Given the description of an element on the screen output the (x, y) to click on. 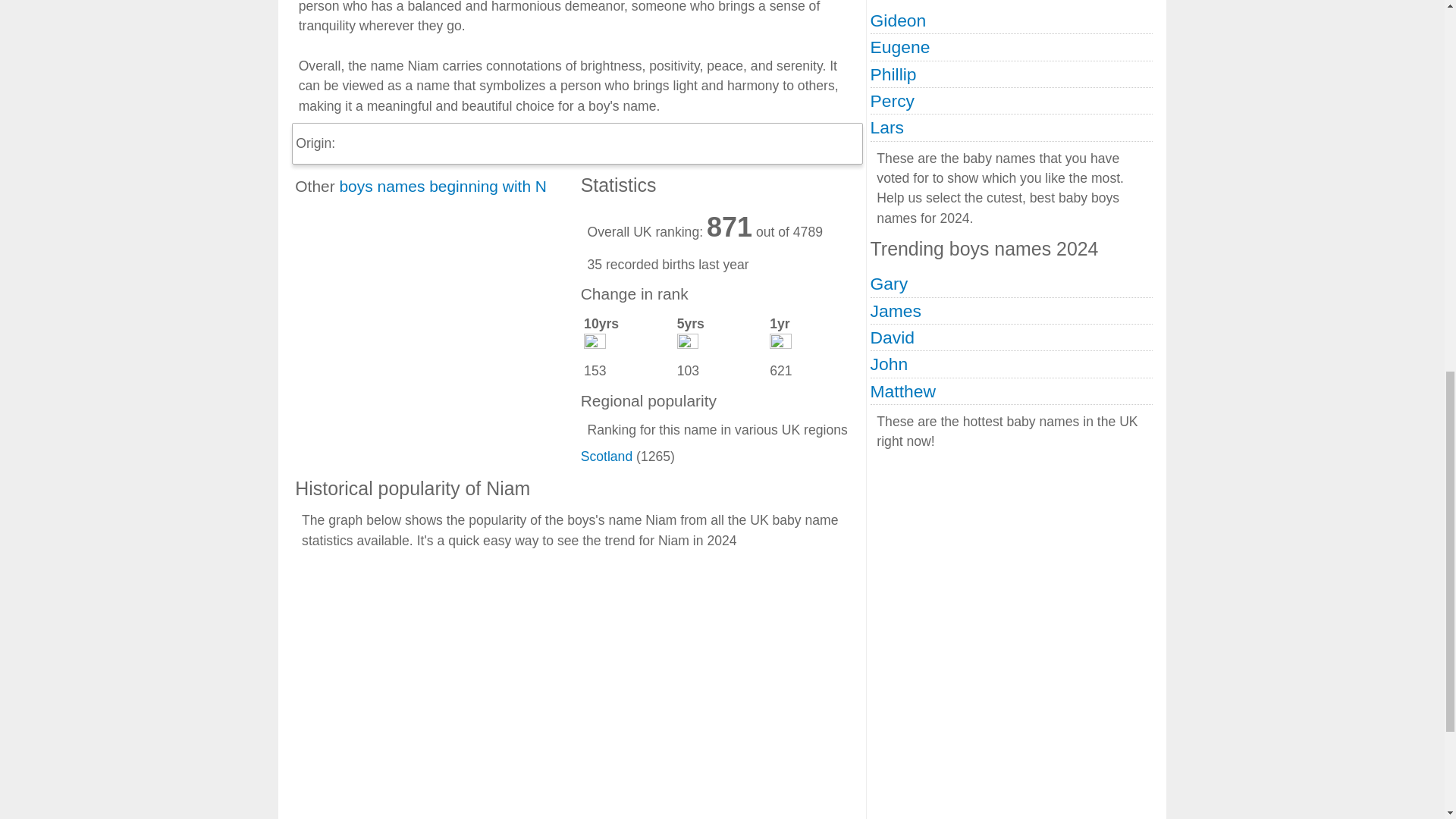
boys names beginning with N (443, 185)
James (895, 311)
Percy (892, 100)
Gary (889, 283)
John (889, 363)
David (892, 337)
Eugene (900, 46)
Gideon (898, 20)
Scotland (605, 456)
Lars (887, 127)
